Given the description of an element on the screen output the (x, y) to click on. 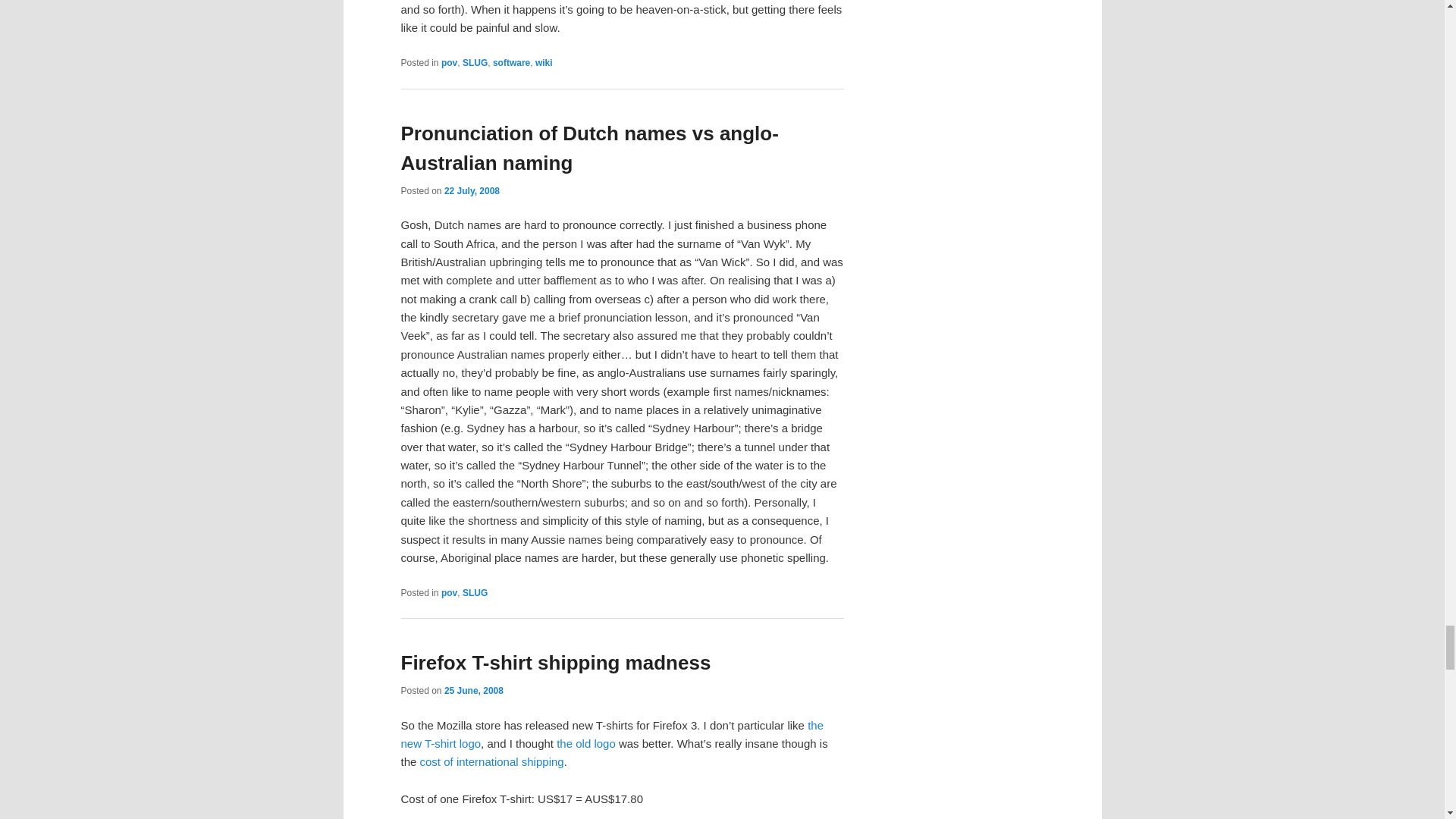
6:24 pm (471, 190)
12:09 pm (473, 690)
